Given the description of an element on the screen output the (x, y) to click on. 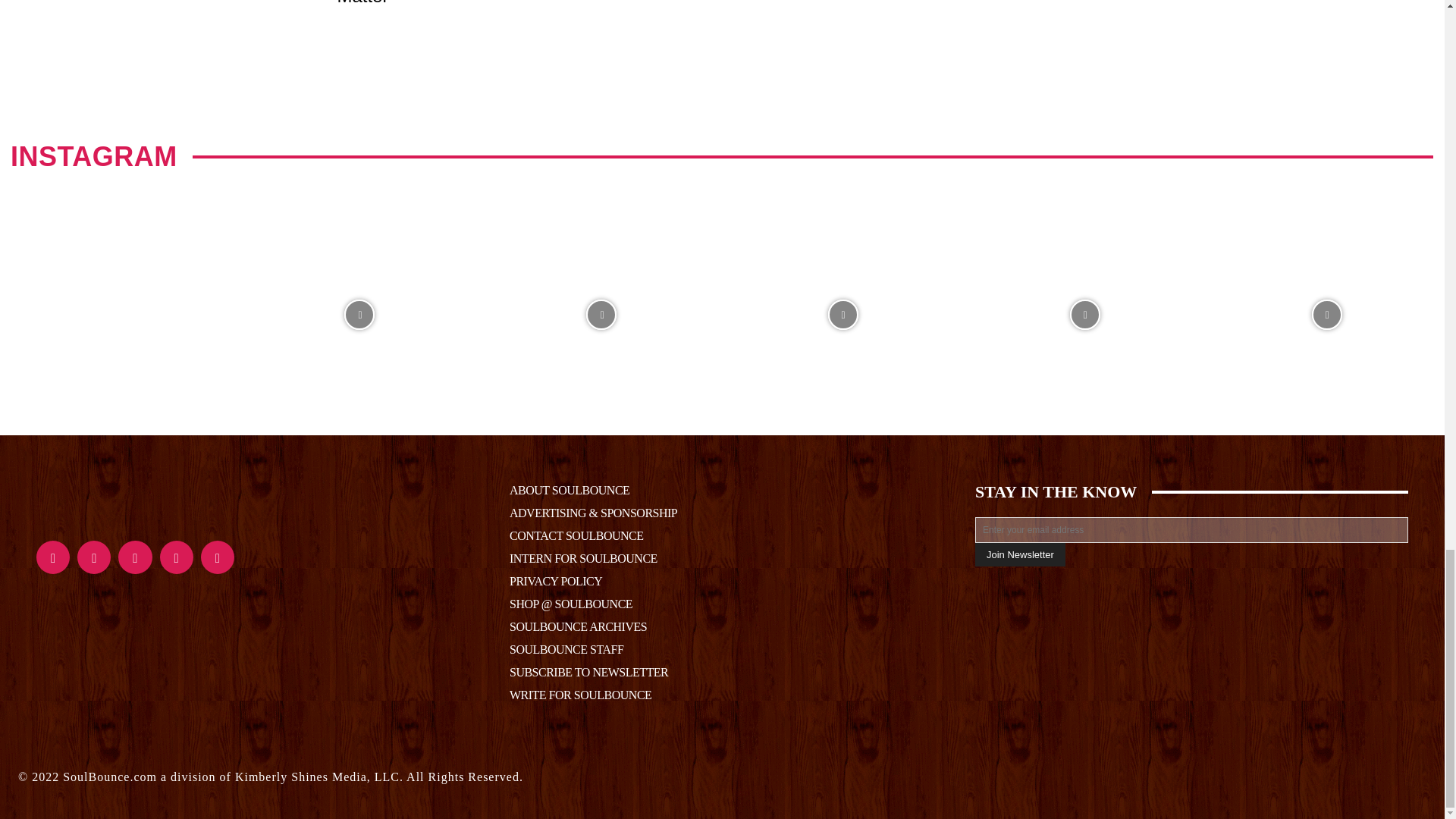
Join Newsletter (1020, 554)
